Given the description of an element on the screen output the (x, y) to click on. 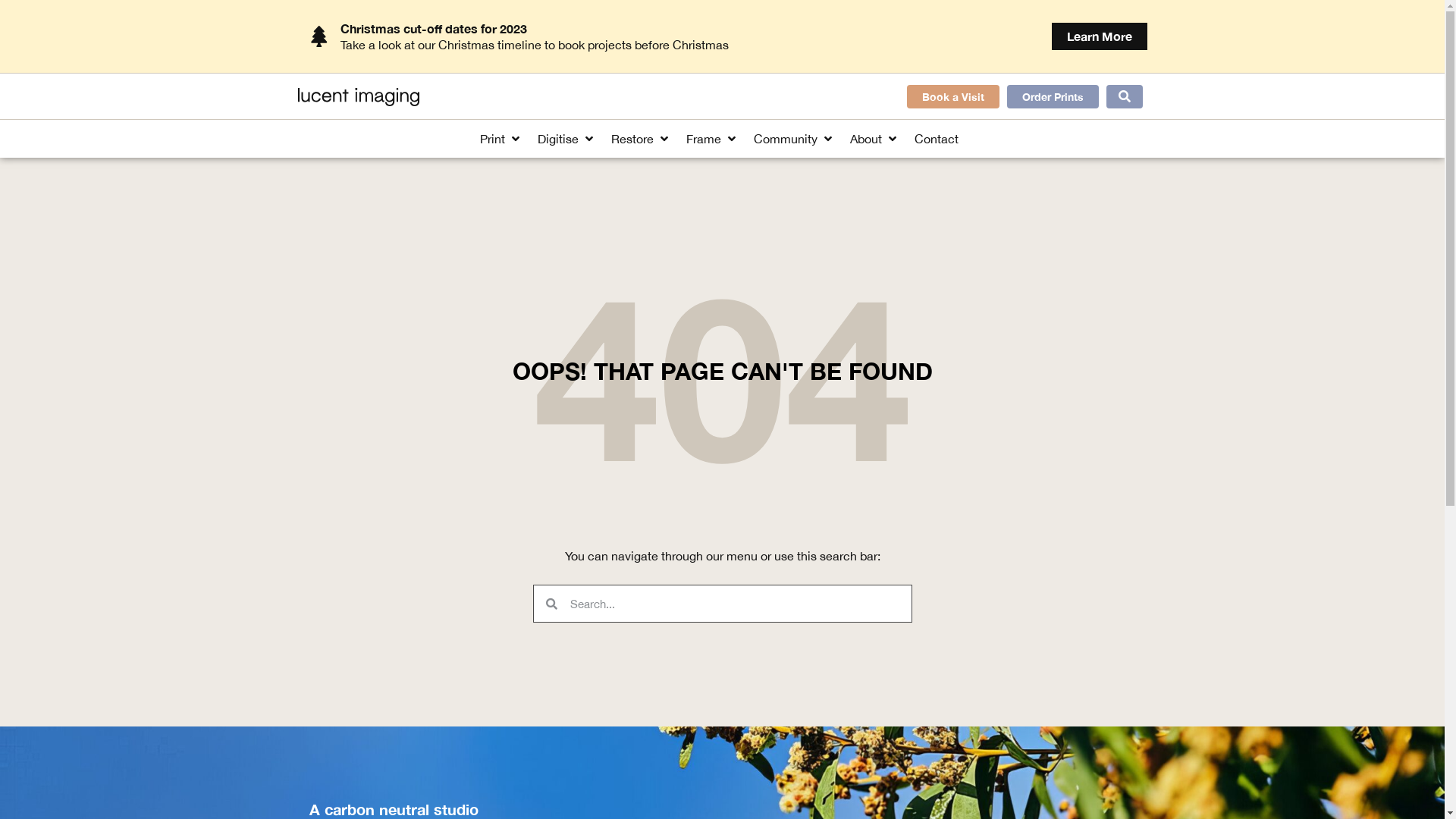
Contact Element type: text (936, 138)
Digitise Element type: text (557, 138)
Restore Element type: text (632, 138)
Order Prints Element type: text (1052, 96)
Community Element type: text (785, 138)
Learn More Element type: text (1098, 36)
Book a Visit Element type: text (952, 96)
About Element type: text (865, 138)
Print Element type: text (492, 138)
Frame Element type: text (703, 138)
